Given the description of an element on the screen output the (x, y) to click on. 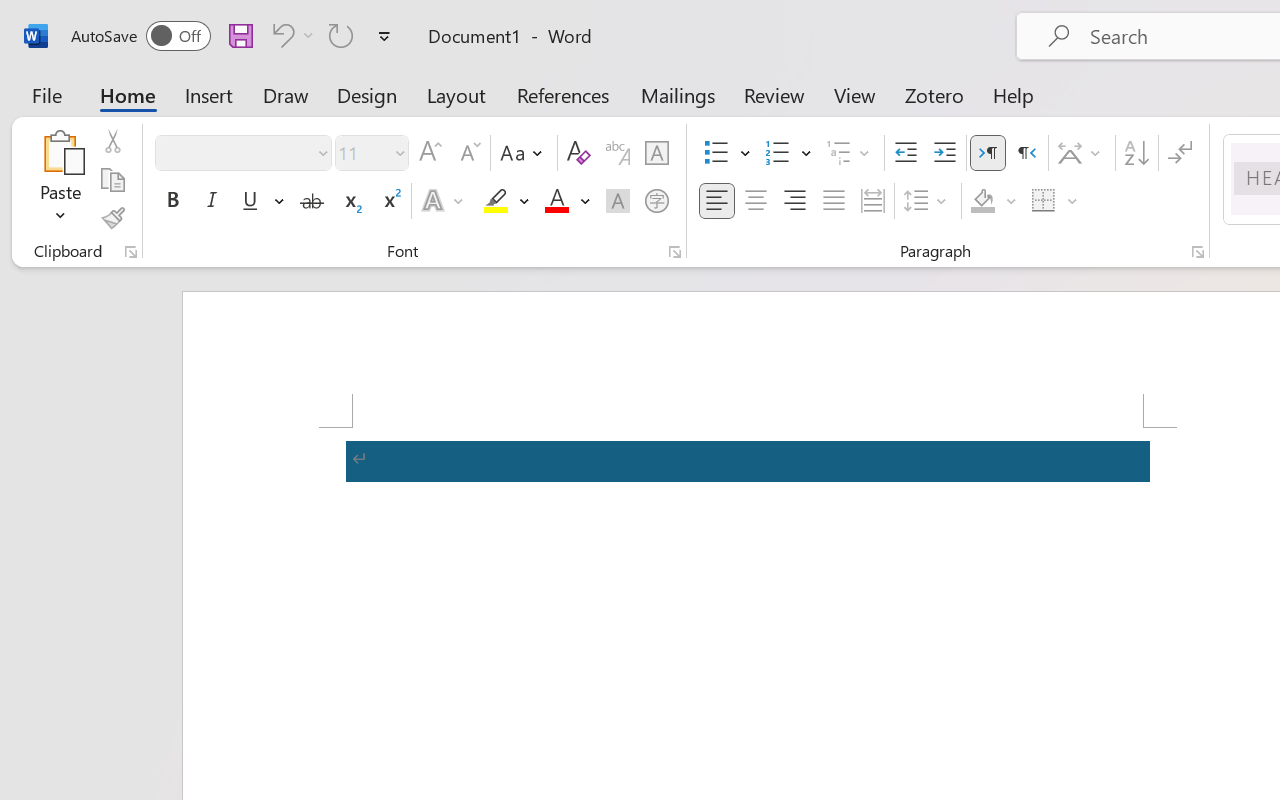
Shading No Color (982, 201)
